Given the description of an element on the screen output the (x, y) to click on. 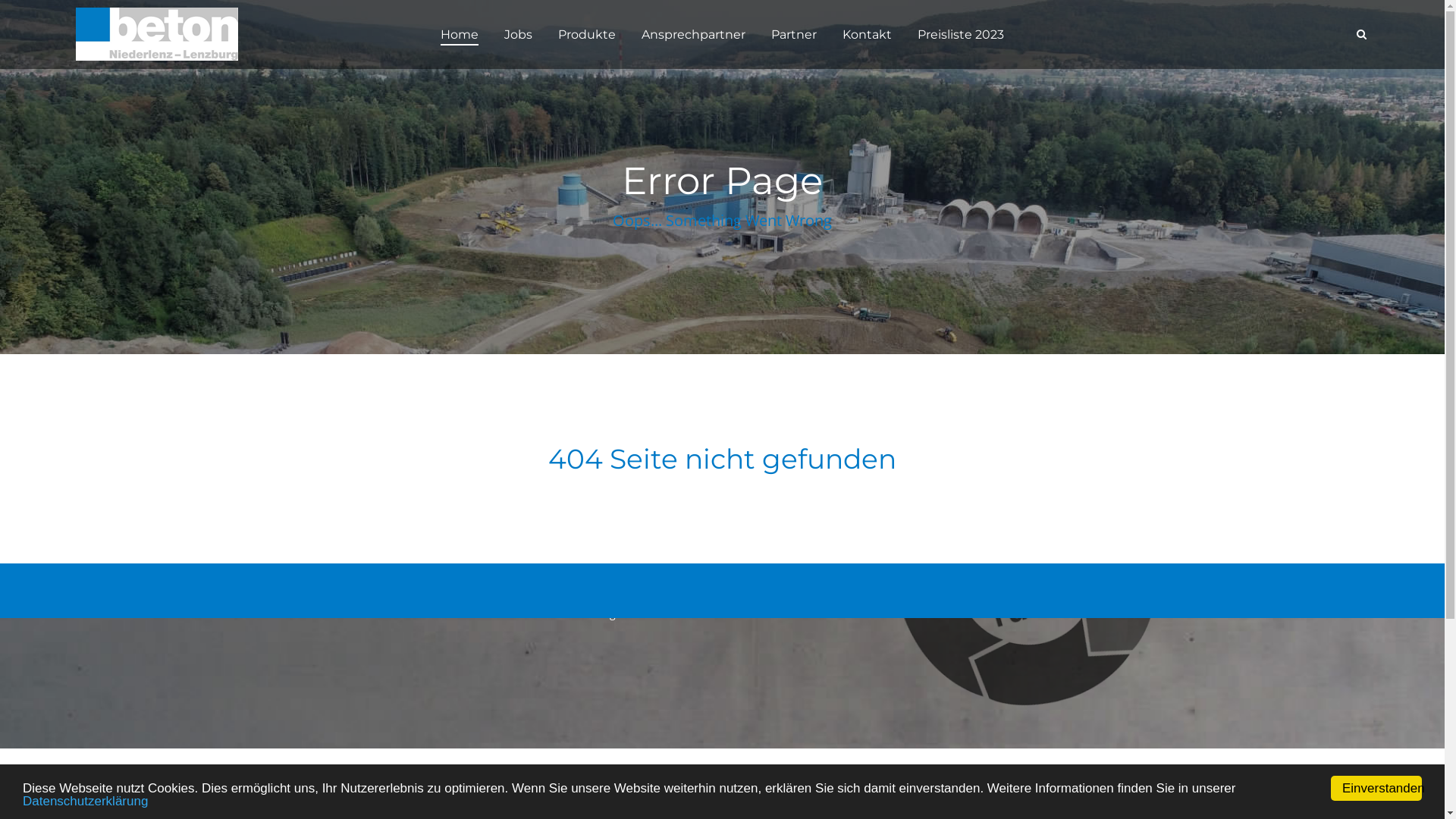
Unsere Partner Element type: text (722, 570)
Home Element type: text (459, 34)
Beton Niederlenz-Lenzburg AG Element type: hover (189, 33)
Einverstanden Element type: text (1375, 787)
 062 891 44 02 Element type: text (328, 546)
Home Element type: text (722, 481)
Jobs Element type: text (517, 34)
Kontakt Element type: text (866, 34)
Preisliste 2023 Element type: text (960, 34)
suchen ... Element type: hover (1360, 33)
AGB Element type: text (722, 548)
Login Web Element type: text (722, 614)
QM Mitarbeiter Element type: text (722, 592)
Ansprechpartner Element type: text (693, 34)
Partner Element type: text (793, 34)
 beton@betonnile.ch Element type: text (345, 562)
Impressum Element type: text (722, 503)
